Given the description of an element on the screen output the (x, y) to click on. 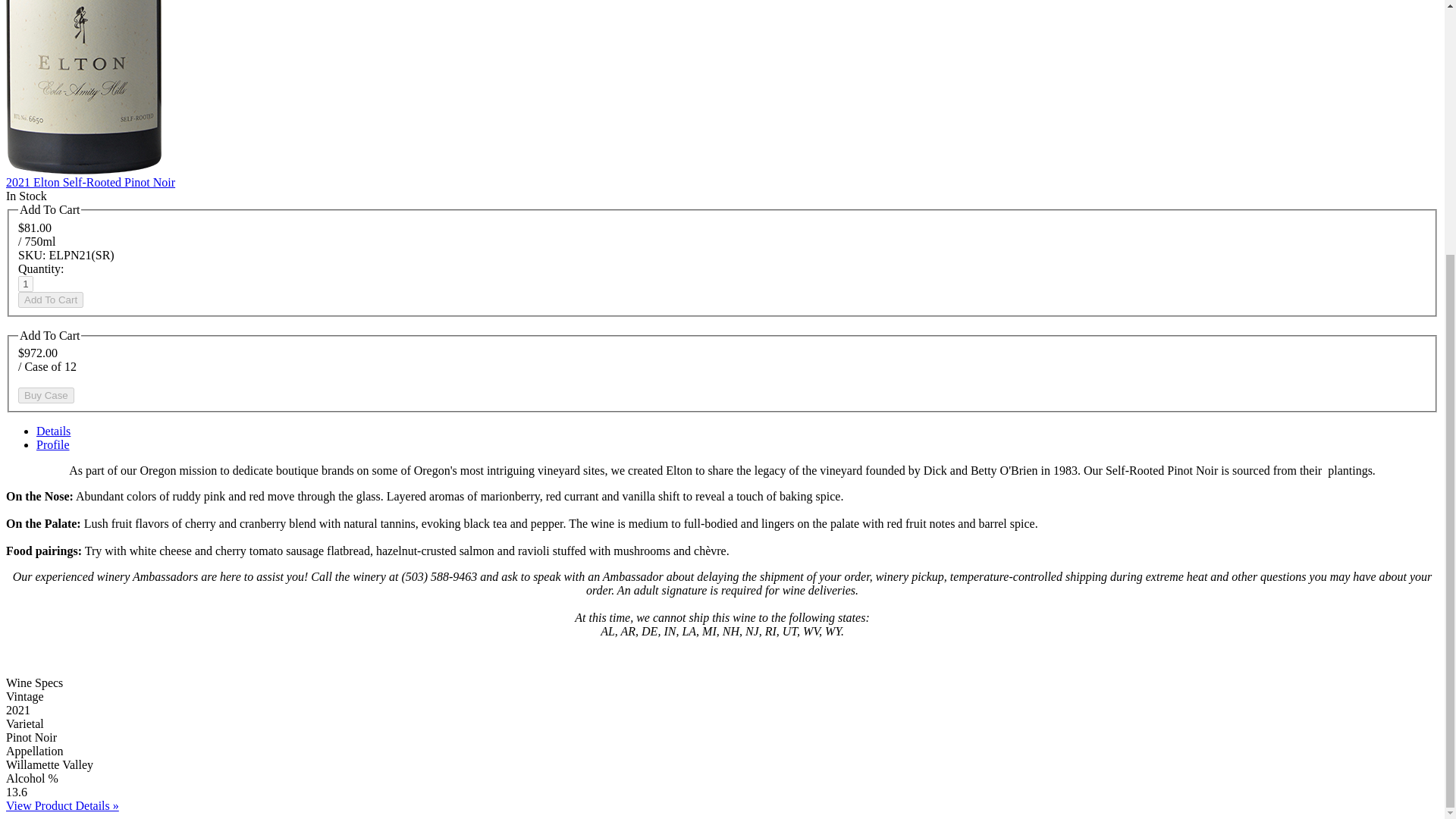
Details (52, 431)
Buy Case (45, 395)
Profile (52, 444)
1 (25, 283)
Add To Cart (49, 299)
2021 Elton Self-Rooted Pinot Noir (89, 182)
